Given the description of an element on the screen output the (x, y) to click on. 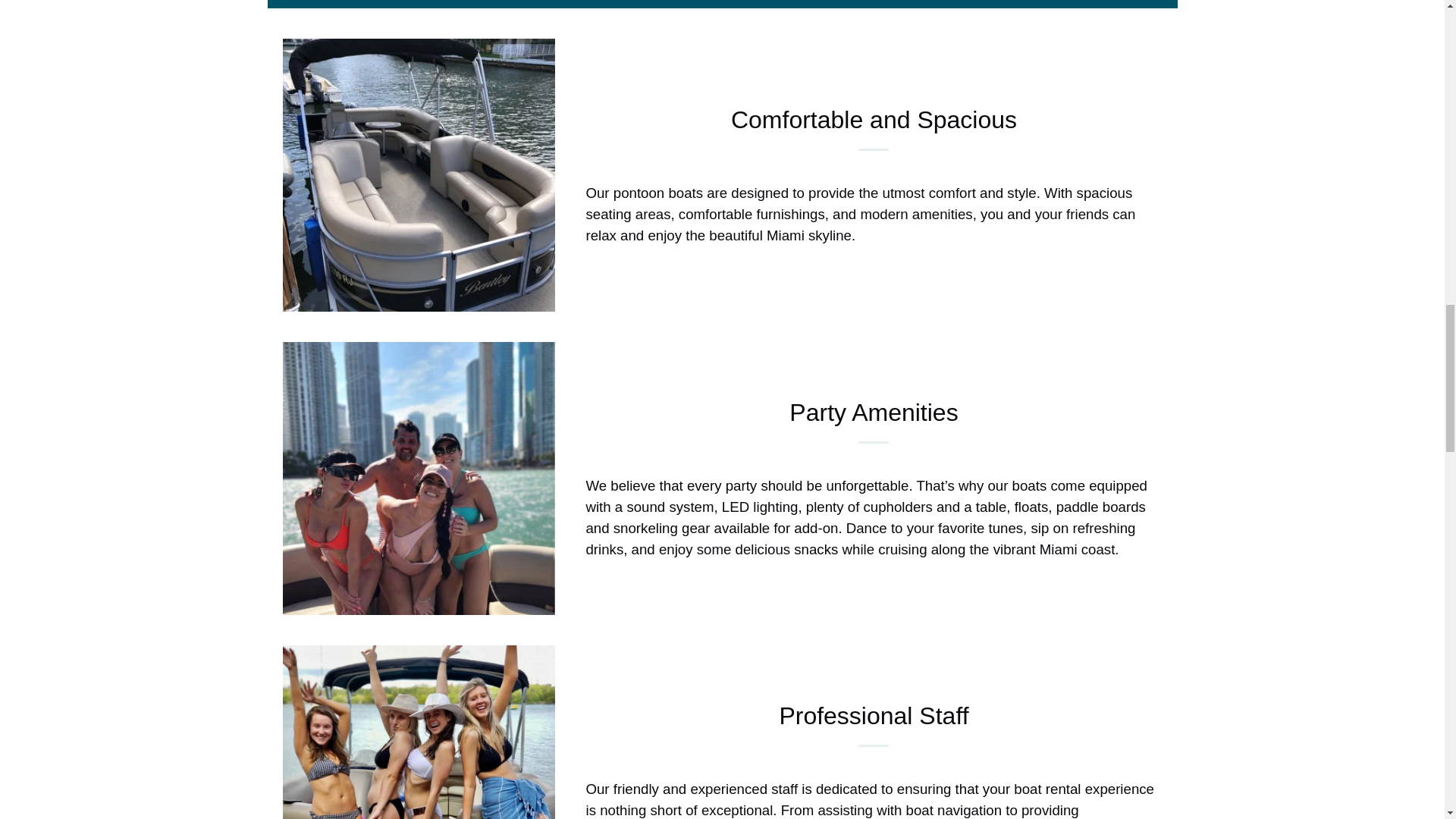
PartyAmenities (418, 478)
ComfortableandSpacious (418, 175)
ProfessionalStaff (418, 732)
